Given the description of an element on the screen output the (x, y) to click on. 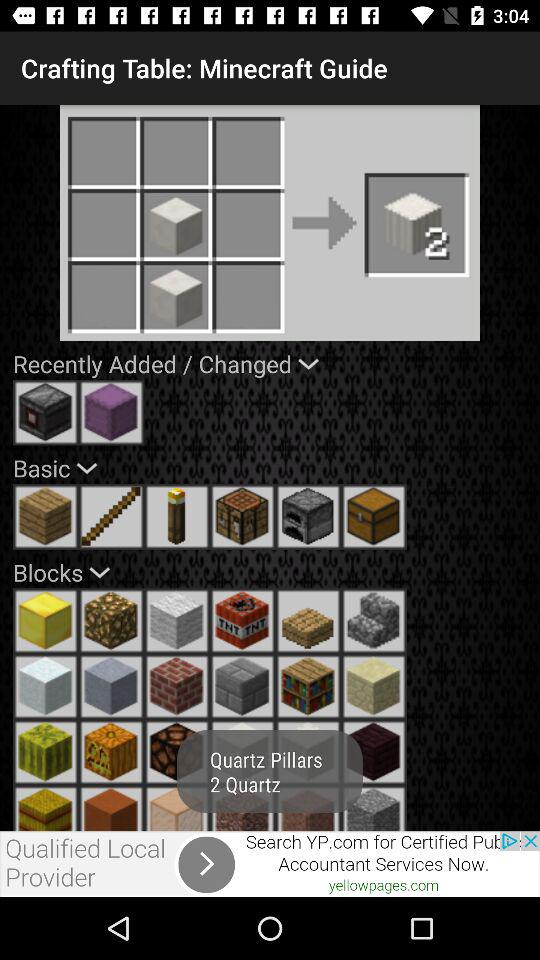
block in wow (45, 621)
